Given the description of an element on the screen output the (x, y) to click on. 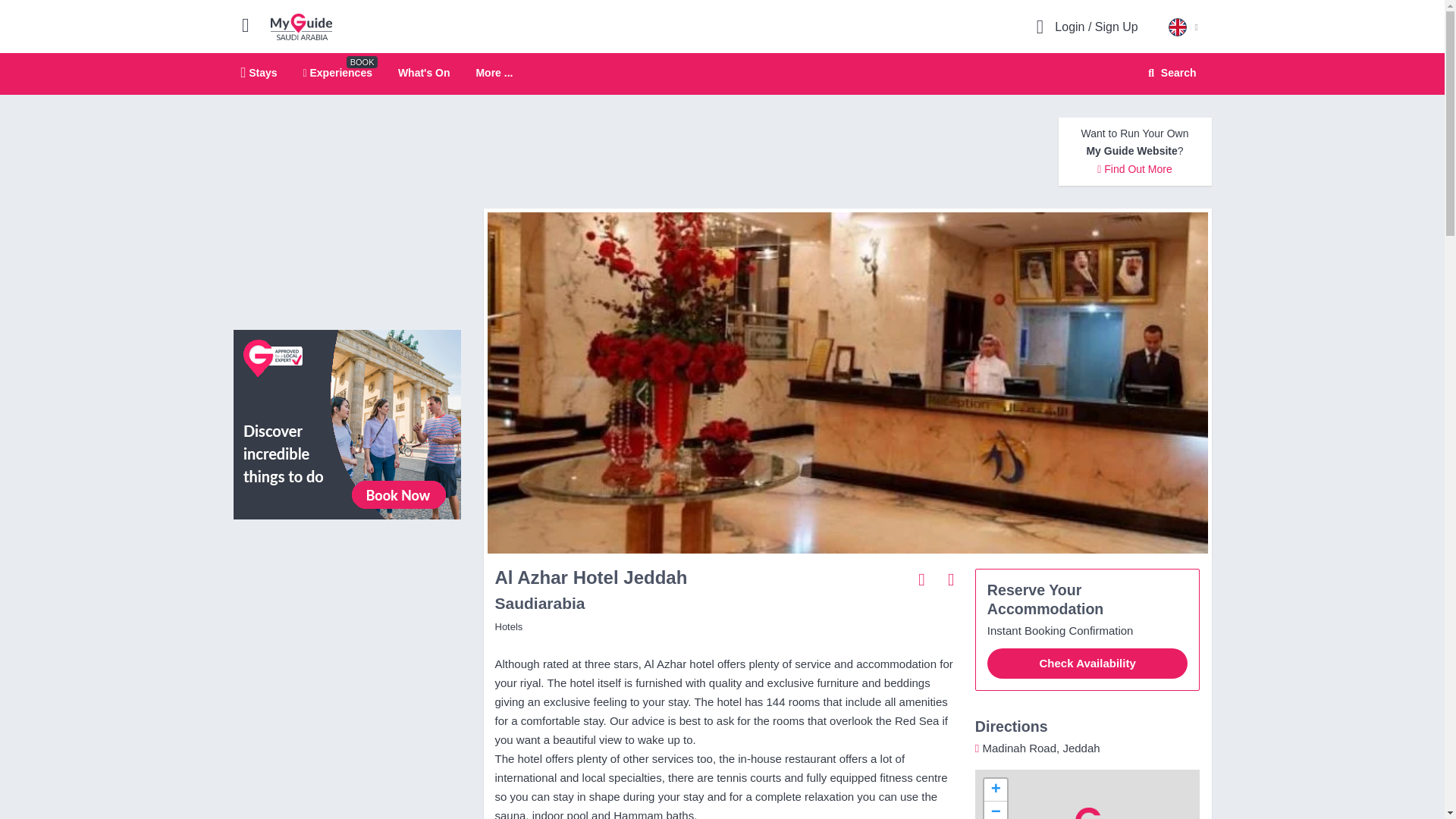
More ... (494, 72)
GetYourGuide Widget (346, 599)
What's On (721, 74)
View All Experiences (423, 72)
Zoom in (346, 423)
Stays (995, 789)
Experiences (259, 72)
Search (337, 72)
Zoom out (1169, 72)
My Guide Saudi Arabia (995, 810)
Al Azhar Hotel Jeddah (300, 25)
